Given the description of an element on the screen output the (x, y) to click on. 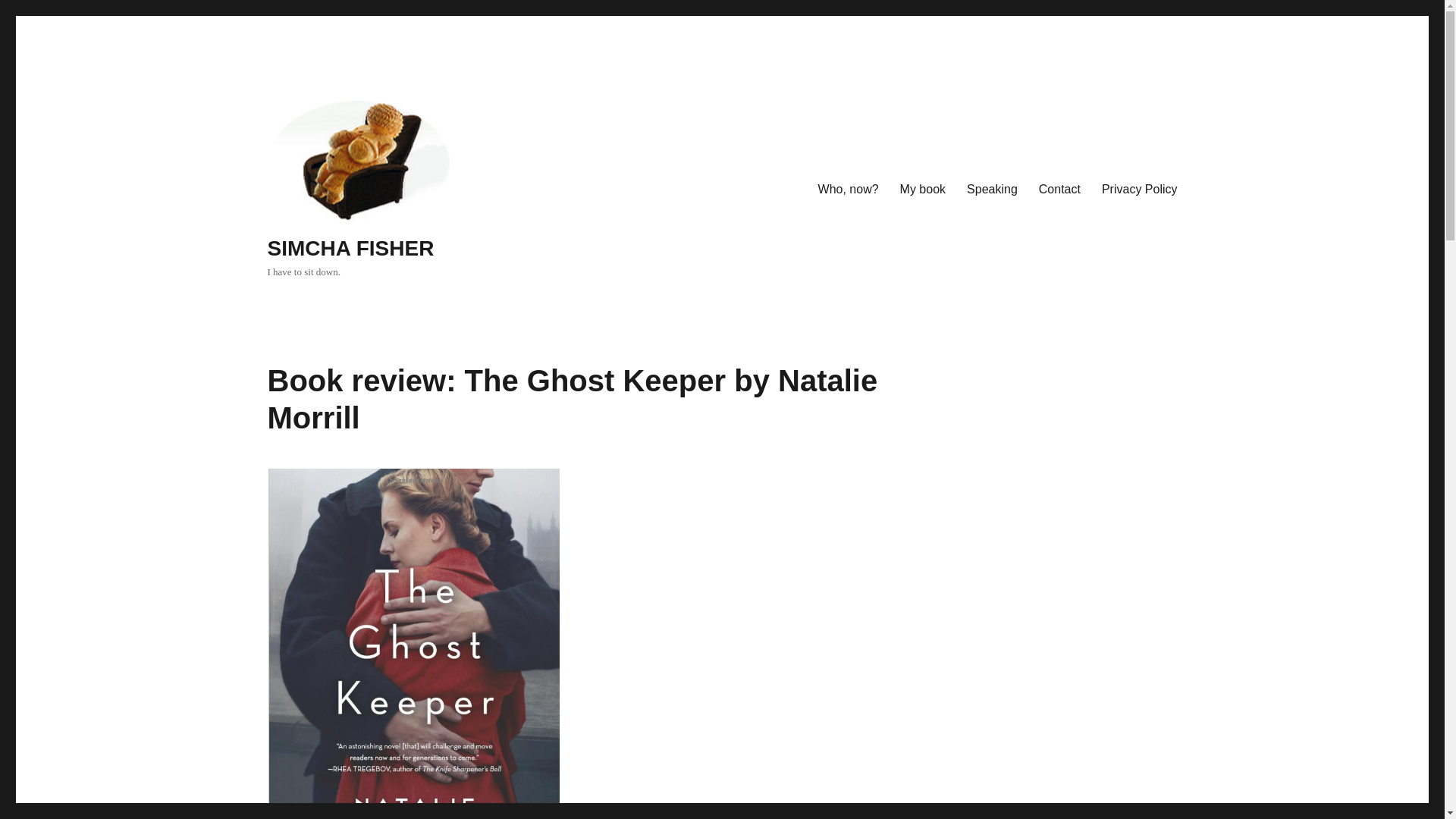
Who, now? (848, 189)
My book (922, 189)
Contact (1058, 189)
Privacy Policy (1139, 189)
SIMCHA FISHER (349, 248)
Speaking (991, 189)
